Given the description of an element on the screen output the (x, y) to click on. 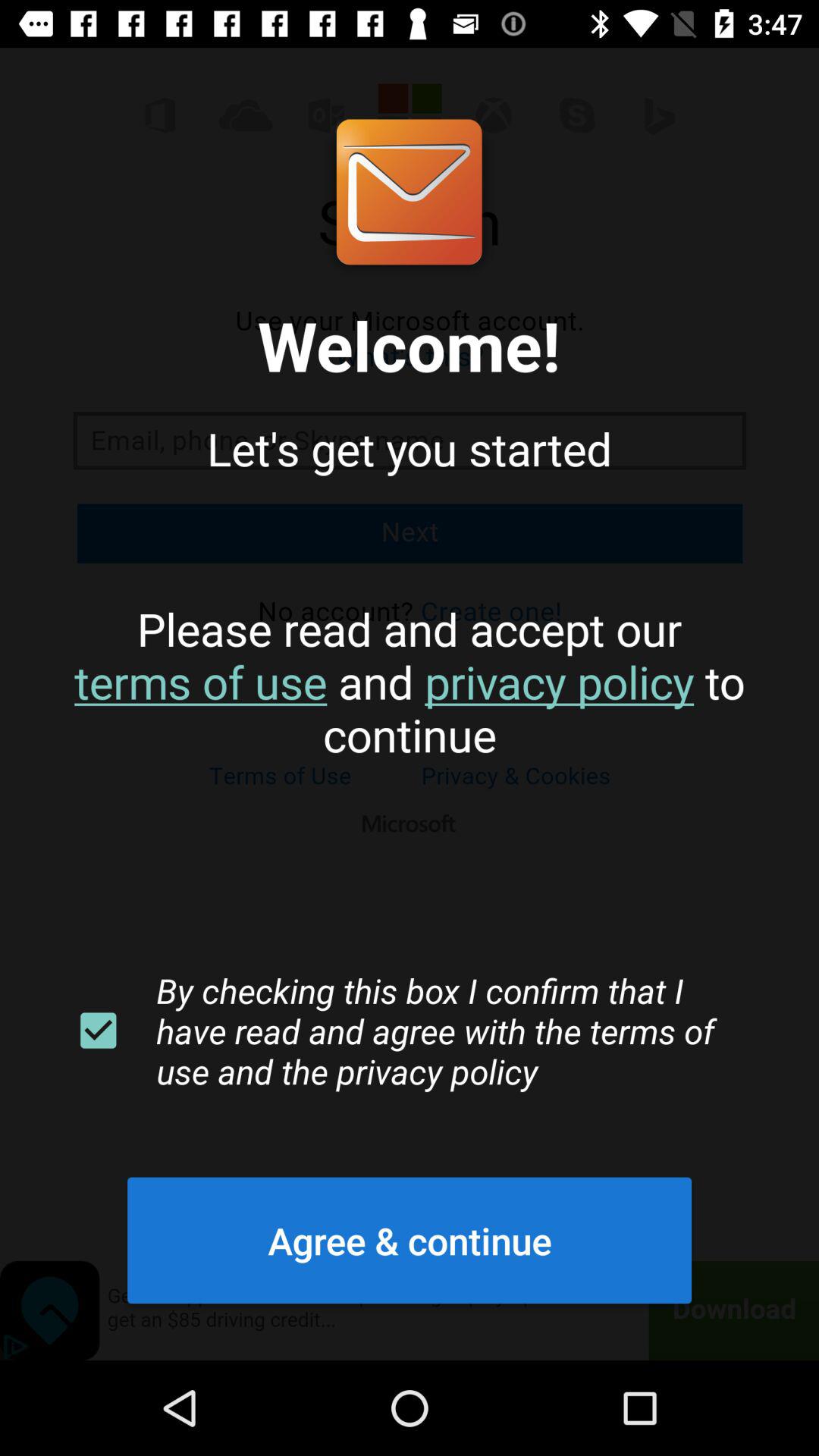
press the item next to by checking this (98, 1030)
